Given the description of an element on the screen output the (x, y) to click on. 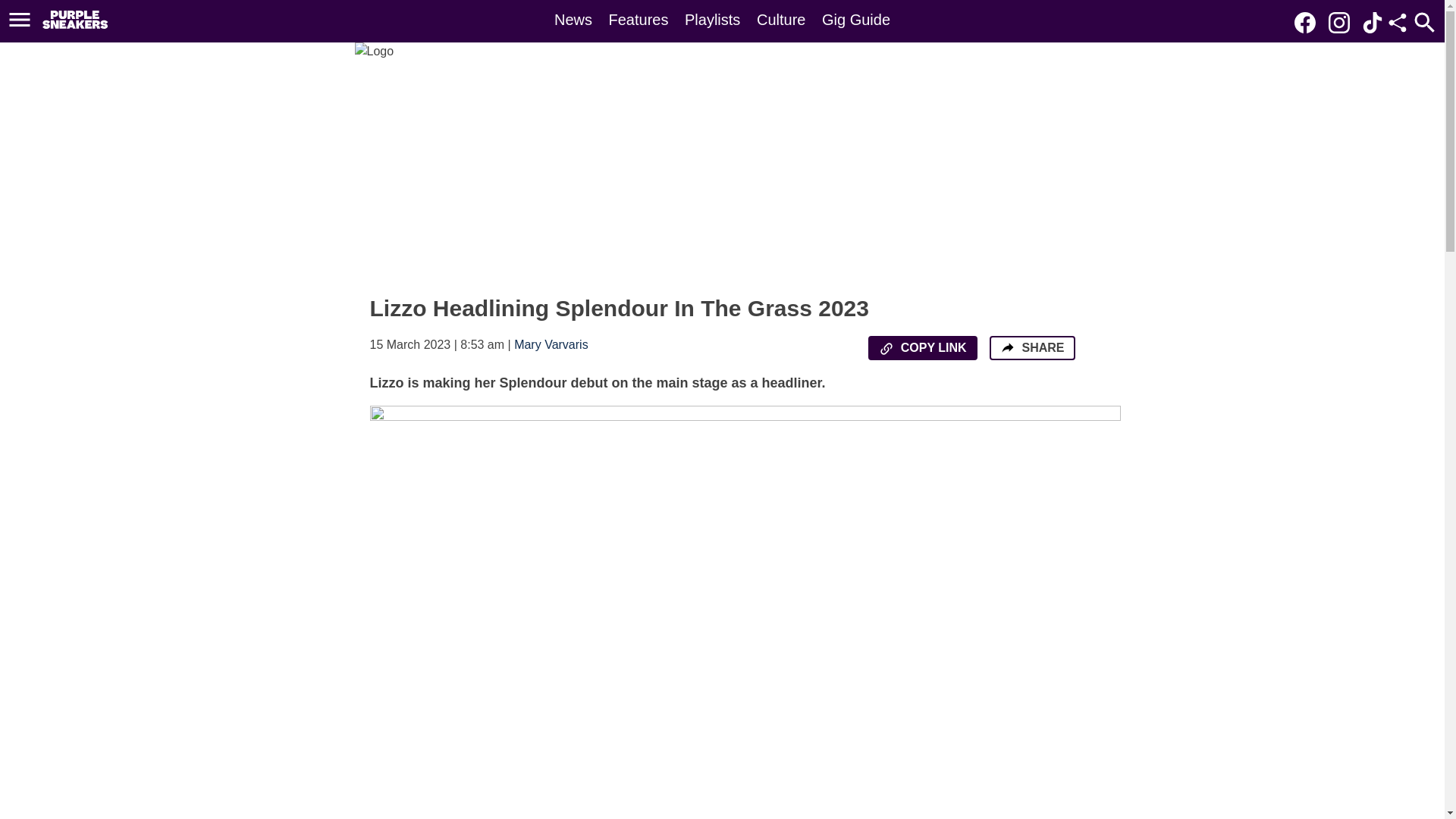
Playlists (711, 19)
Link to our TikTok (1372, 22)
Link to our Facebook (1309, 21)
Culture (781, 19)
Share this page (1397, 22)
Open the site search menu (1424, 22)
Share this page (1397, 22)
Share the page (1007, 346)
Mary Varvaris (550, 344)
Copy the page URL COPY LINK (921, 347)
Link to our Instagram (1338, 22)
Open the site search menu (1424, 22)
Copy the page URL (886, 348)
Link to our Instagram (1342, 21)
Gig Guide (855, 19)
